Given the description of an element on the screen output the (x, y) to click on. 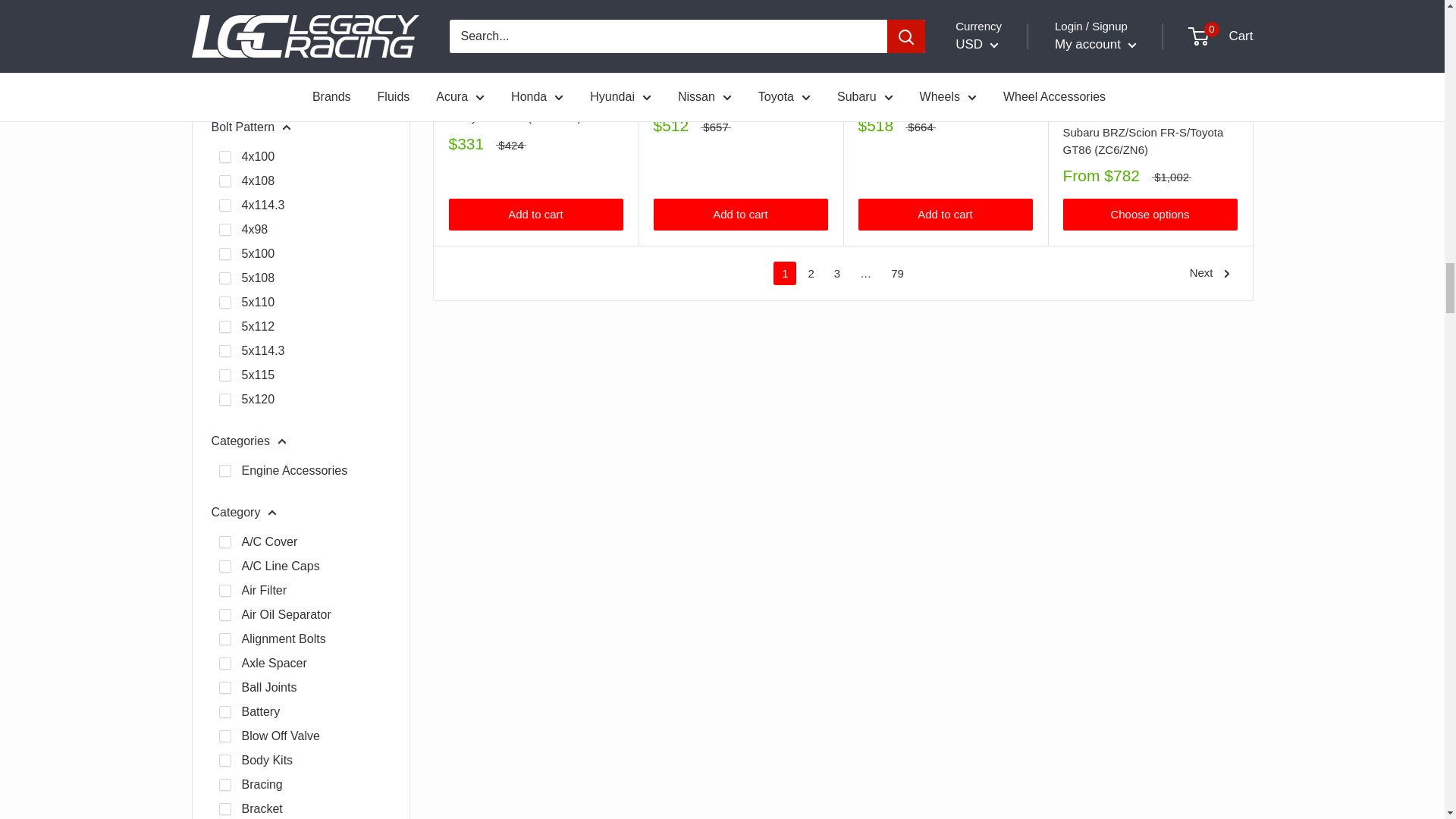
on (224, 375)
on (224, 254)
on (224, 229)
on (224, 399)
on (224, 326)
on (224, 205)
Navigate to page 79 (897, 273)
on (224, 156)
Navigate to page 3 (836, 273)
on (224, 277)
